Given the description of an element on the screen output the (x, y) to click on. 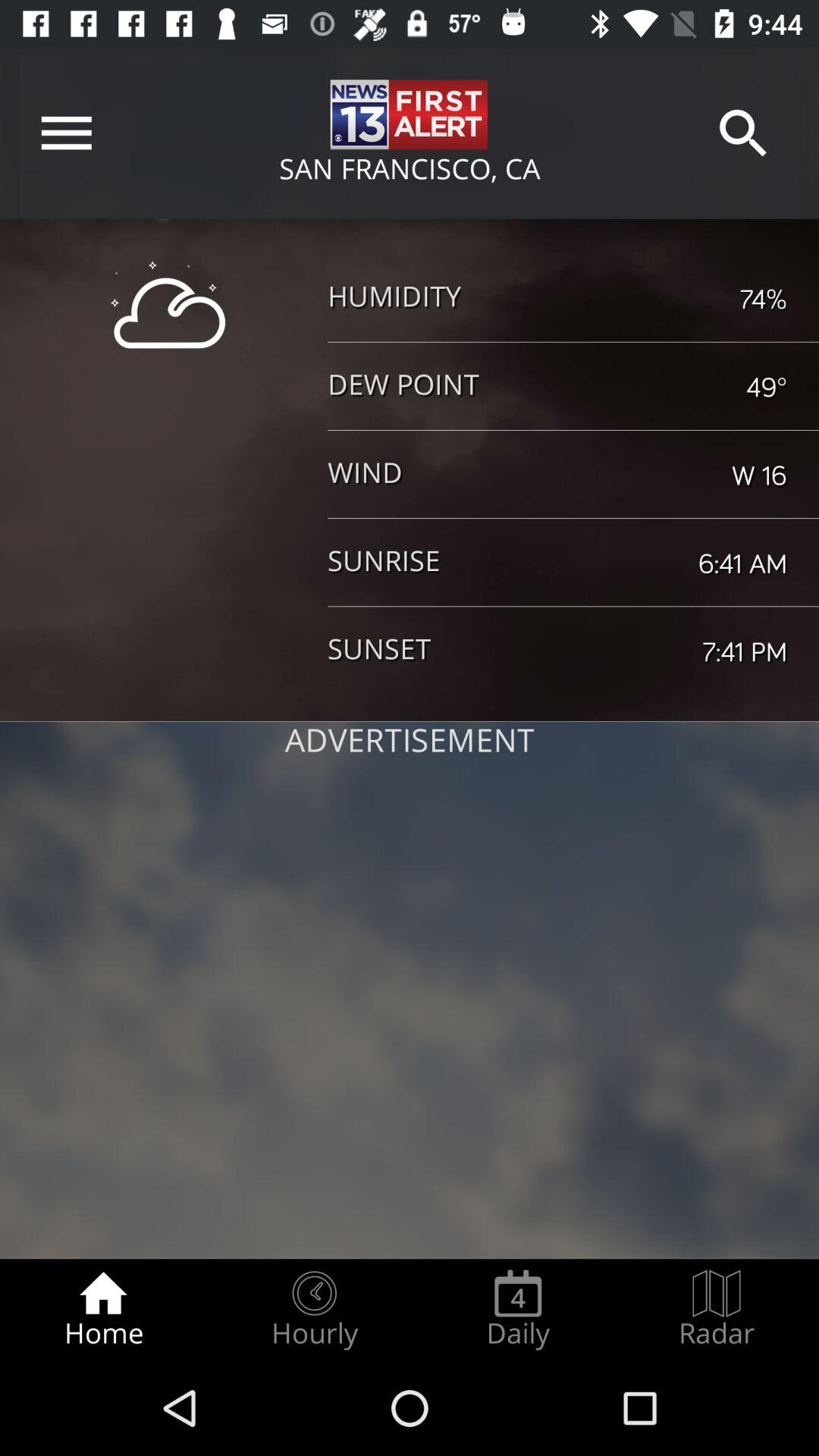
turn on the radar (716, 1309)
